Given the description of an element on the screen output the (x, y) to click on. 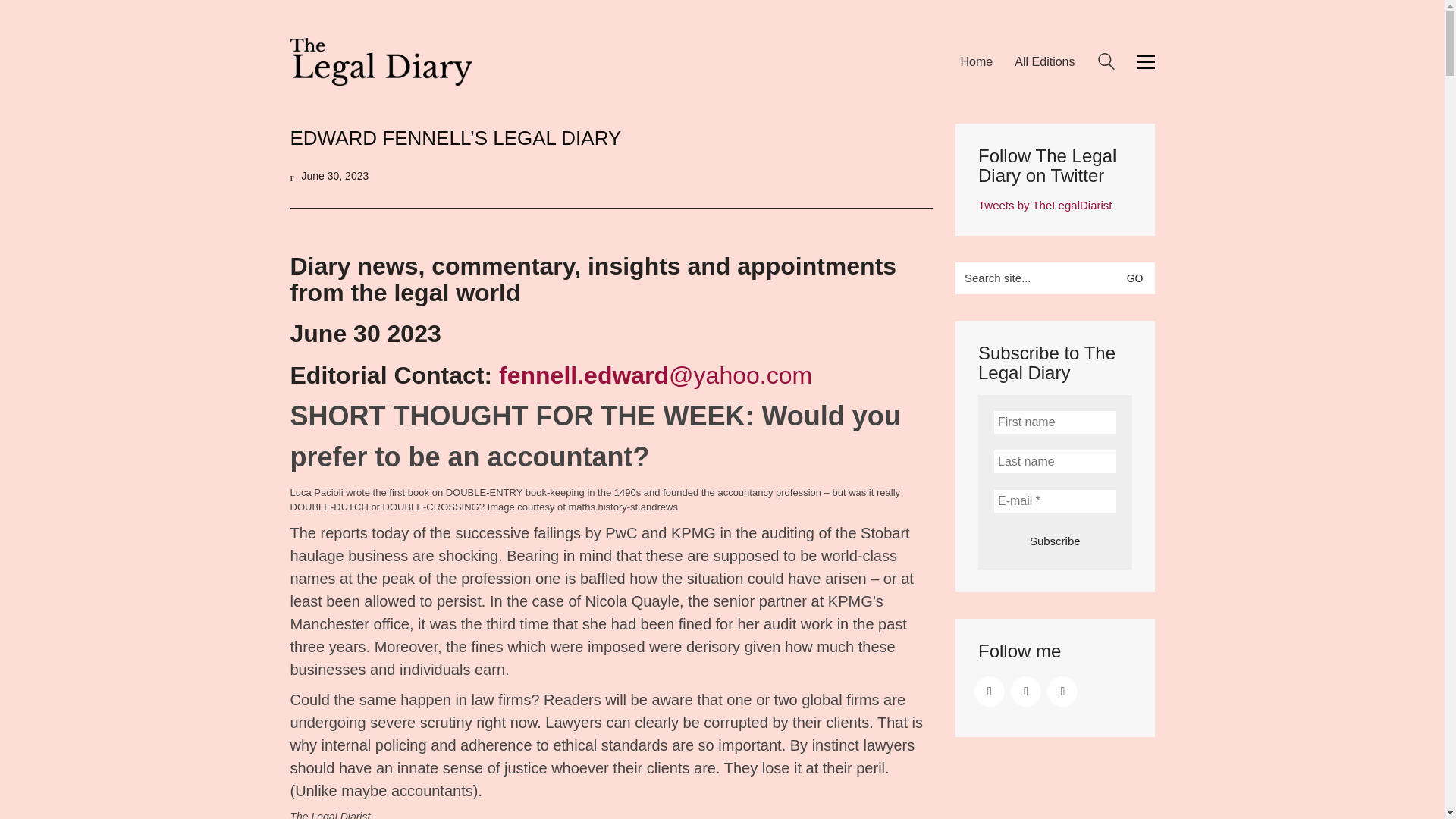
Last name (1054, 461)
Home (975, 61)
Email (1061, 691)
First name (1054, 422)
Go (1138, 278)
Subscribe (1054, 541)
Twitter (989, 691)
All Editions (1044, 61)
Go (1138, 278)
LinkedIn (1025, 691)
Search for: (1054, 278)
Subscribe (1054, 541)
Tweets by TheLegalDiarist (1045, 205)
fennell.edward (583, 375)
E-mail (1054, 500)
